Given the description of an element on the screen output the (x, y) to click on. 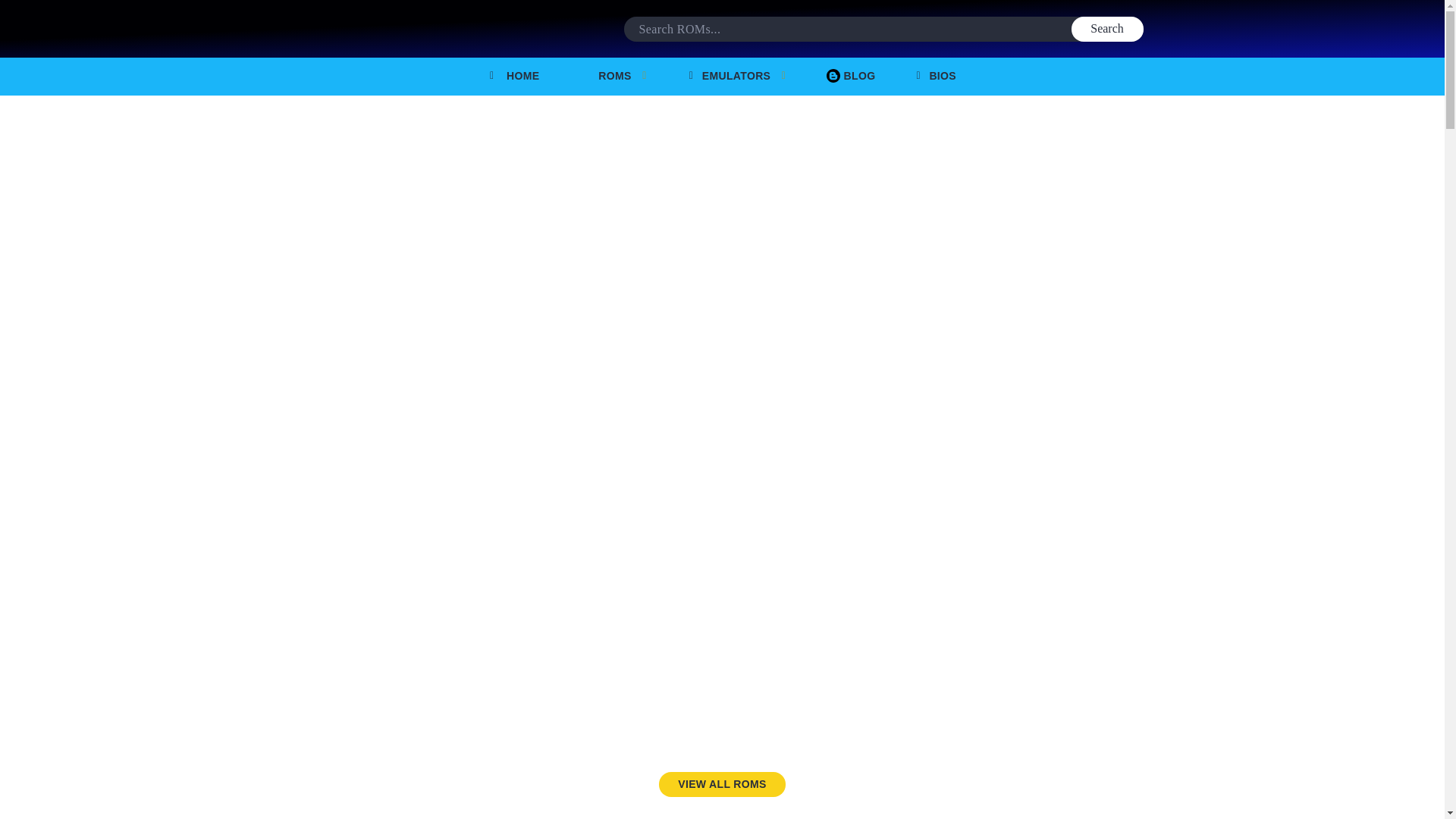
BLOG (850, 76)
Nintendo Switch (564, 332)
PSP (721, 502)
NDS (407, 502)
HOME (513, 75)
EMULATORS (737, 75)
NES (880, 332)
GBA (407, 332)
Nintendo 3DS (564, 502)
GameCube (721, 332)
N64 (1037, 332)
Search (1106, 28)
BIOS (935, 75)
ROMS (613, 75)
